Given the description of an element on the screen output the (x, y) to click on. 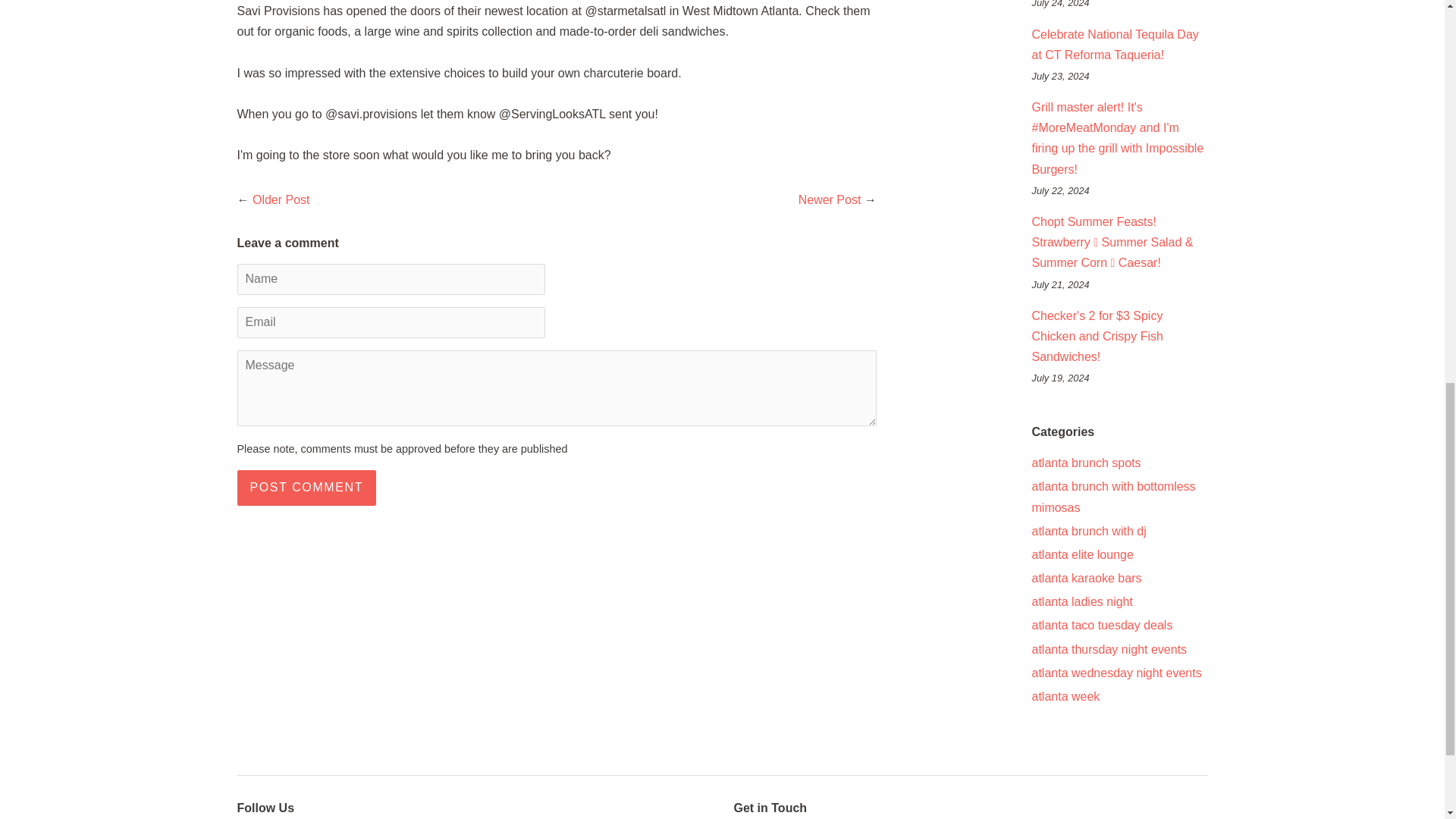
Show articles tagged atlanta elite lounge (1081, 554)
Show articles tagged atlanta week (1064, 696)
Show articles tagged atlanta ladies night (1081, 601)
Show articles tagged atlanta wednesday night events (1115, 672)
Older Post (280, 199)
Post comment (305, 488)
Show articles tagged atlanta brunch spots (1085, 462)
Newer Post (829, 199)
Show articles tagged atlanta brunch with bottomless mimosas (1112, 496)
Show articles tagged atlanta thursday night events (1108, 649)
